Given the description of an element on the screen output the (x, y) to click on. 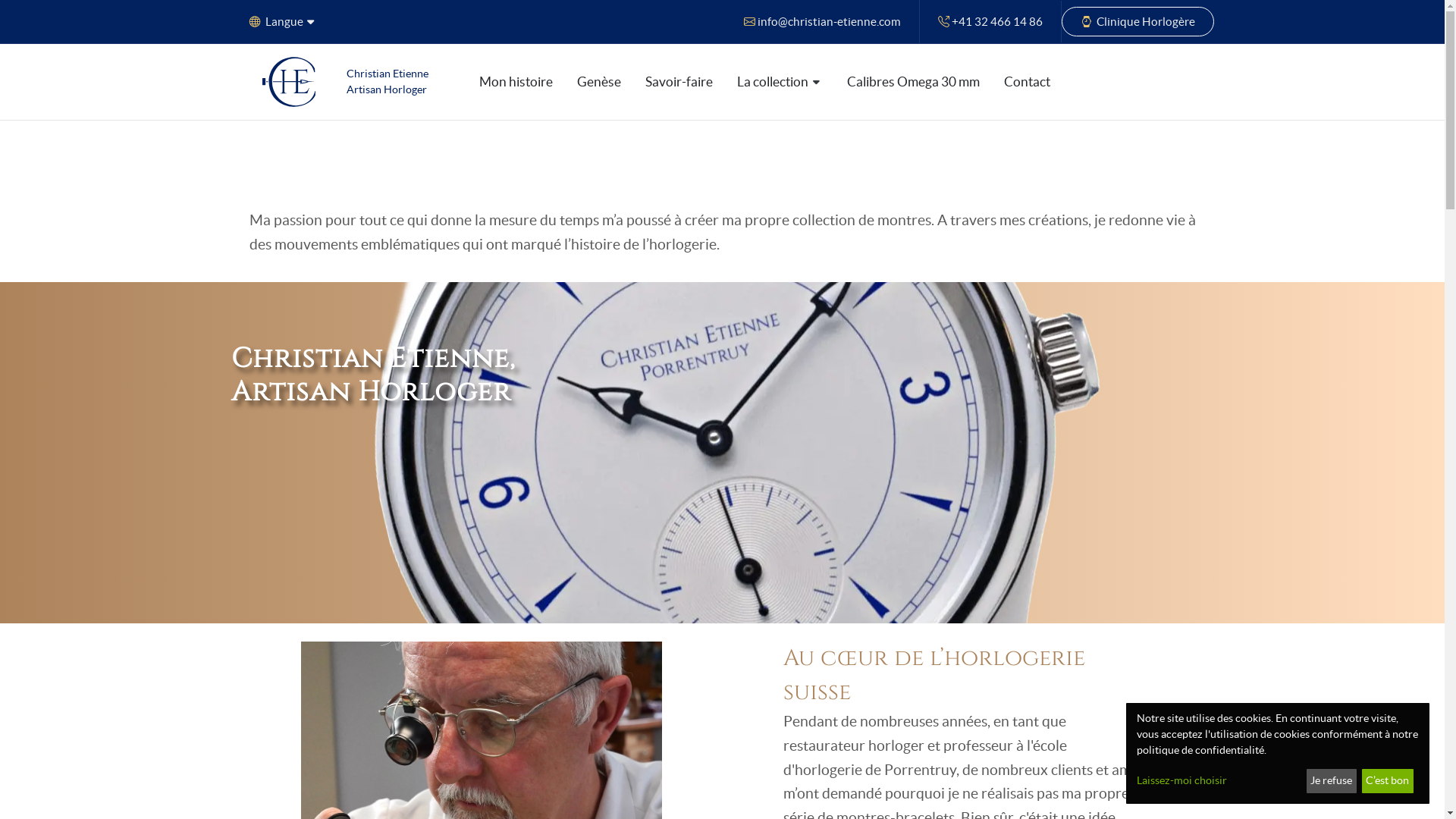
logo christian etienne swiss watches Element type: hover (288, 81)
Je refuse Element type: text (1331, 780)
La collection Element type: text (778, 81)
Savoir-faire Element type: text (678, 81)
Laissez-moi choisir Element type: text (1218, 780)
Contact Element type: text (1025, 81)
Langue Element type: text (280, 21)
info@christian-etienne.com Element type: text (821, 21)
+41 32 466 14 86 Element type: text (989, 21)
Calibres Omega 30 mm Element type: text (913, 81)
Mon histoire Element type: text (515, 81)
